Given the description of an element on the screen output the (x, y) to click on. 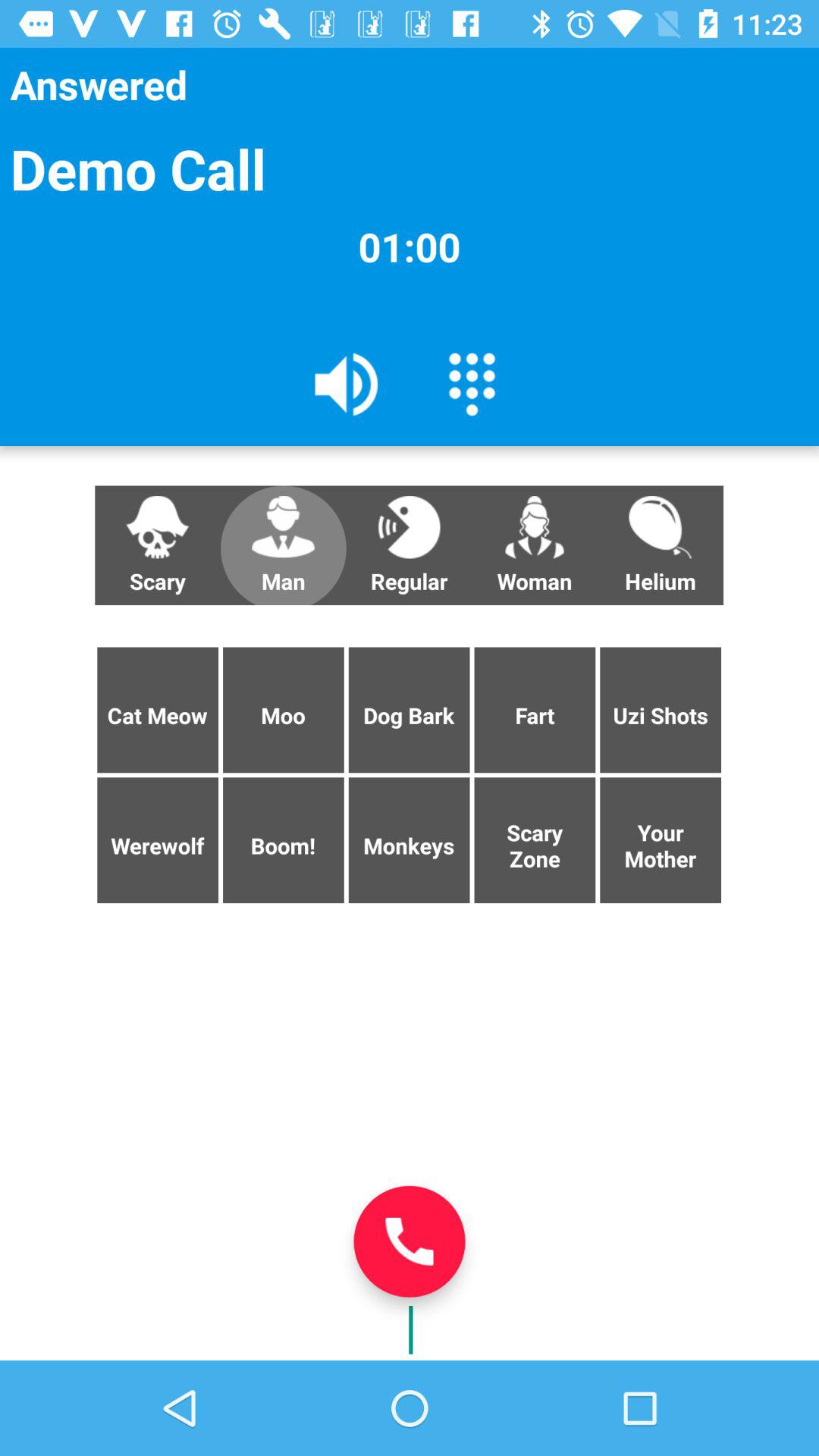
launch the man item (283, 545)
